Given the description of an element on the screen output the (x, y) to click on. 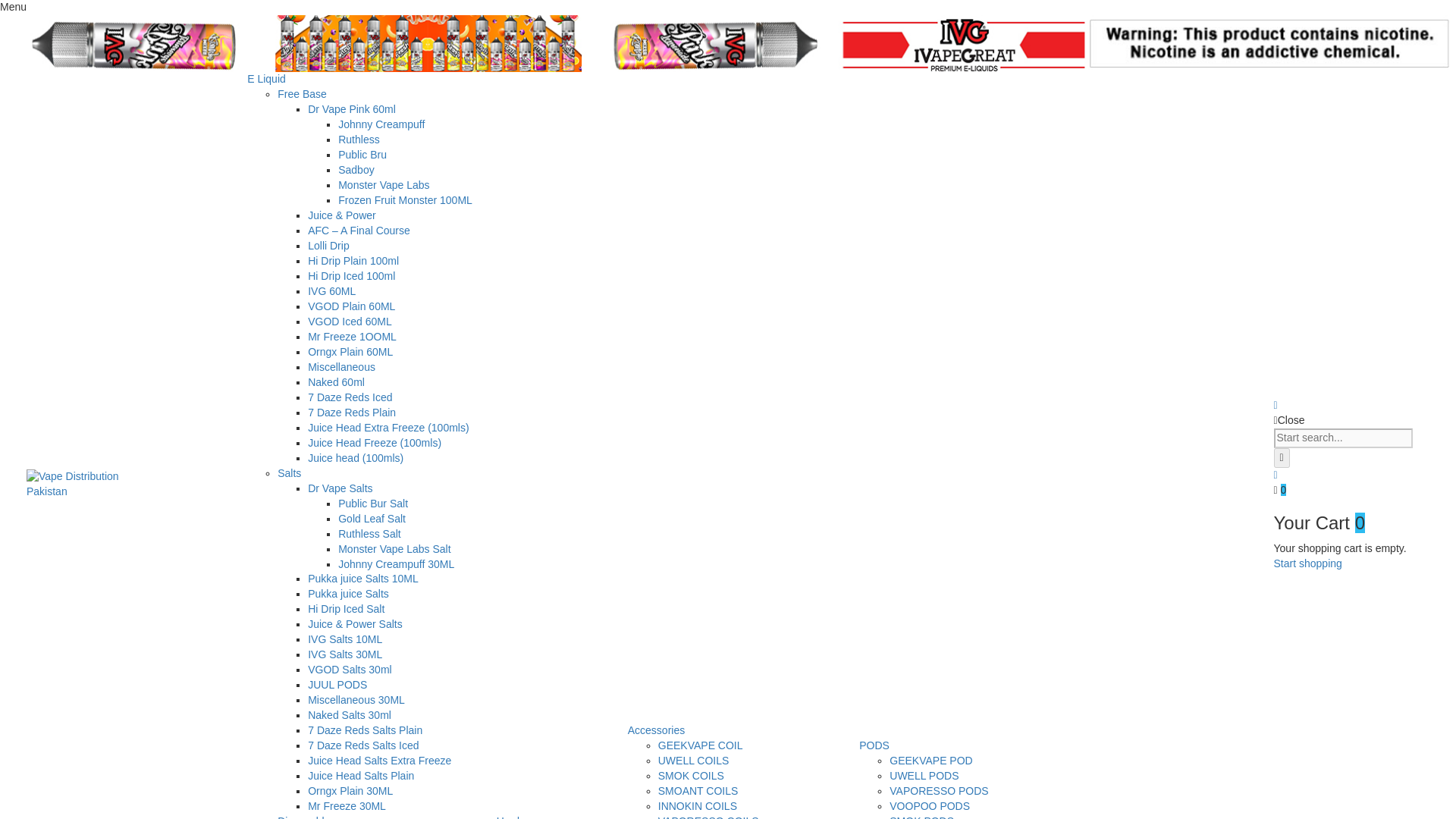
Pukka juice Salts (347, 593)
IVG 60ML (331, 291)
Sadboy (355, 169)
Naked 60ml (336, 381)
AFC - A Final Course (358, 230)
Hi Drip Iced 100ml (350, 275)
Pukka juice Salts 10ML (363, 578)
7 Daze Reds Plain (351, 412)
Monster Vape Labs (383, 184)
Lolli Drip (328, 245)
